Given the description of an element on the screen output the (x, y) to click on. 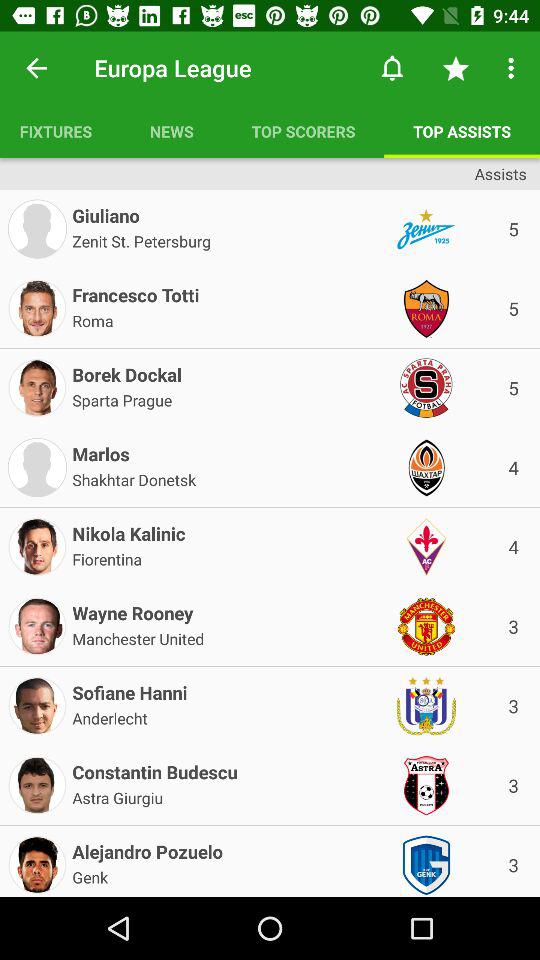
click icon below wayne rooney item (138, 637)
